Given the description of an element on the screen output the (x, y) to click on. 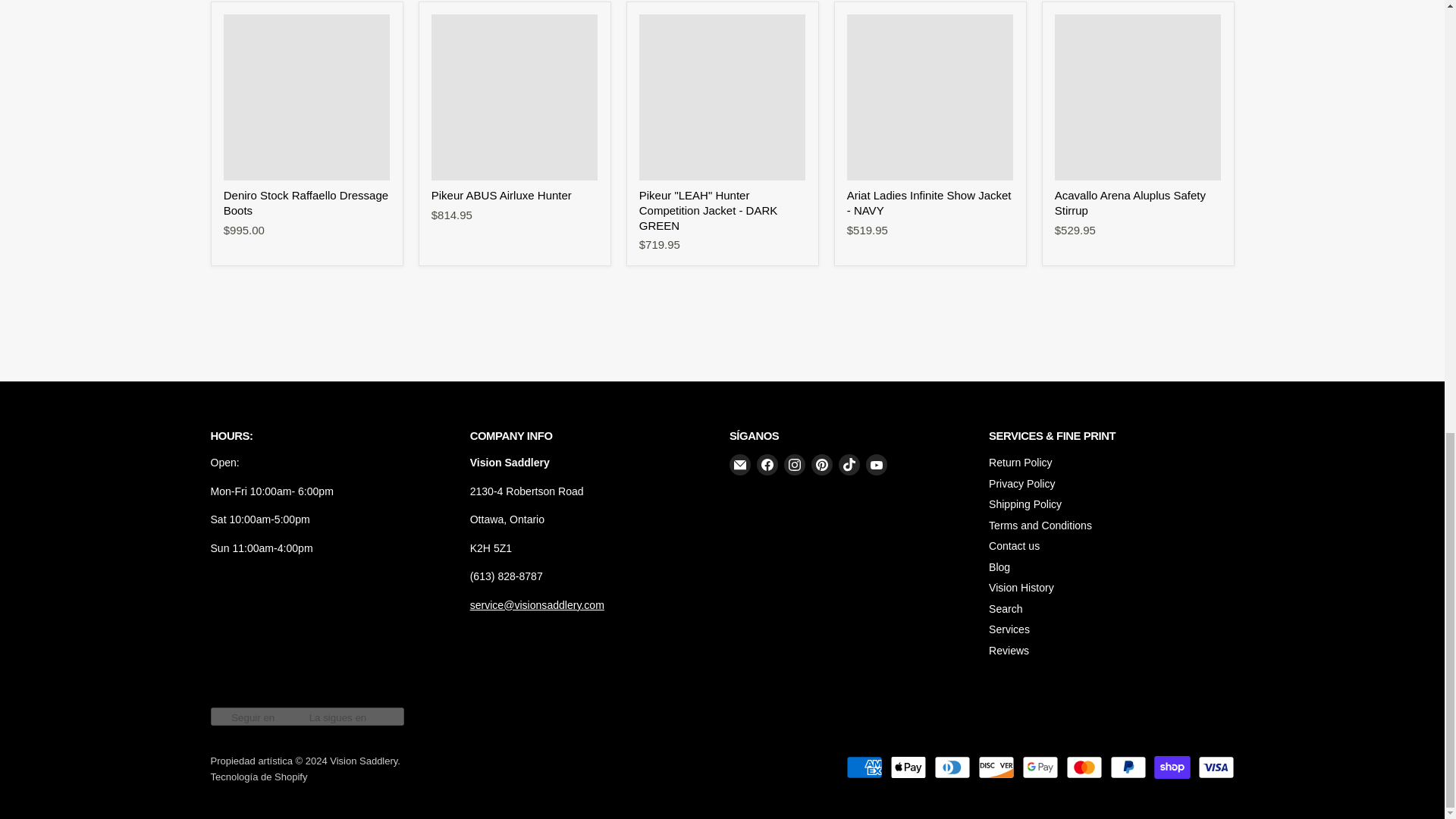
TikTok (849, 464)
Facebook (767, 464)
YouTube (876, 464)
Instagram (794, 464)
Pinterest (821, 464)
